Given the description of an element on the screen output the (x, y) to click on. 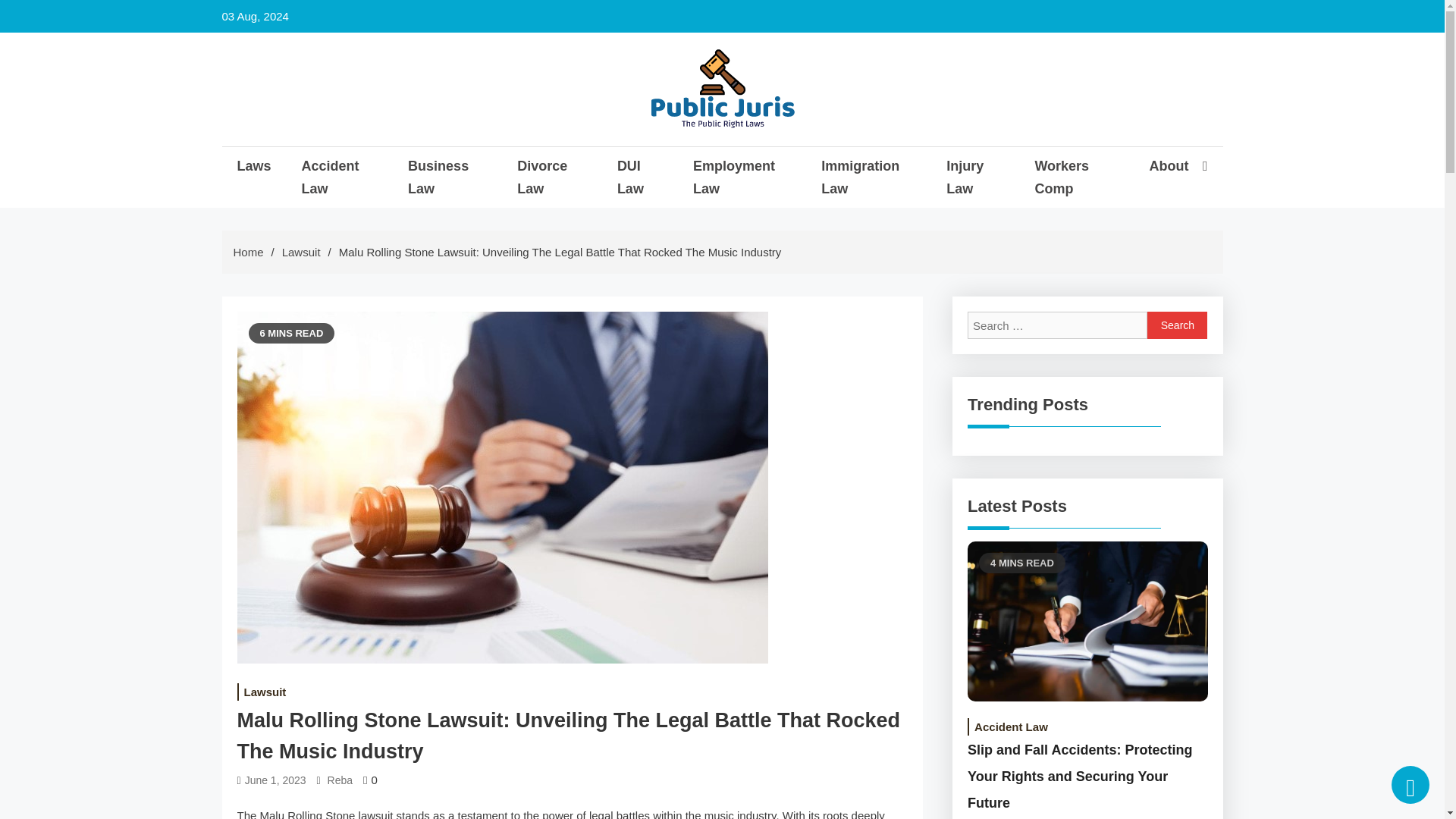
June 1, 2023 (274, 780)
Search (1177, 325)
Laws (252, 166)
Search (1177, 325)
Divorce Law (551, 177)
Public Juris (723, 158)
Injury Law (975, 177)
Workers Comp (1075, 177)
Home (247, 251)
Accident Law (339, 177)
